Given the description of an element on the screen output the (x, y) to click on. 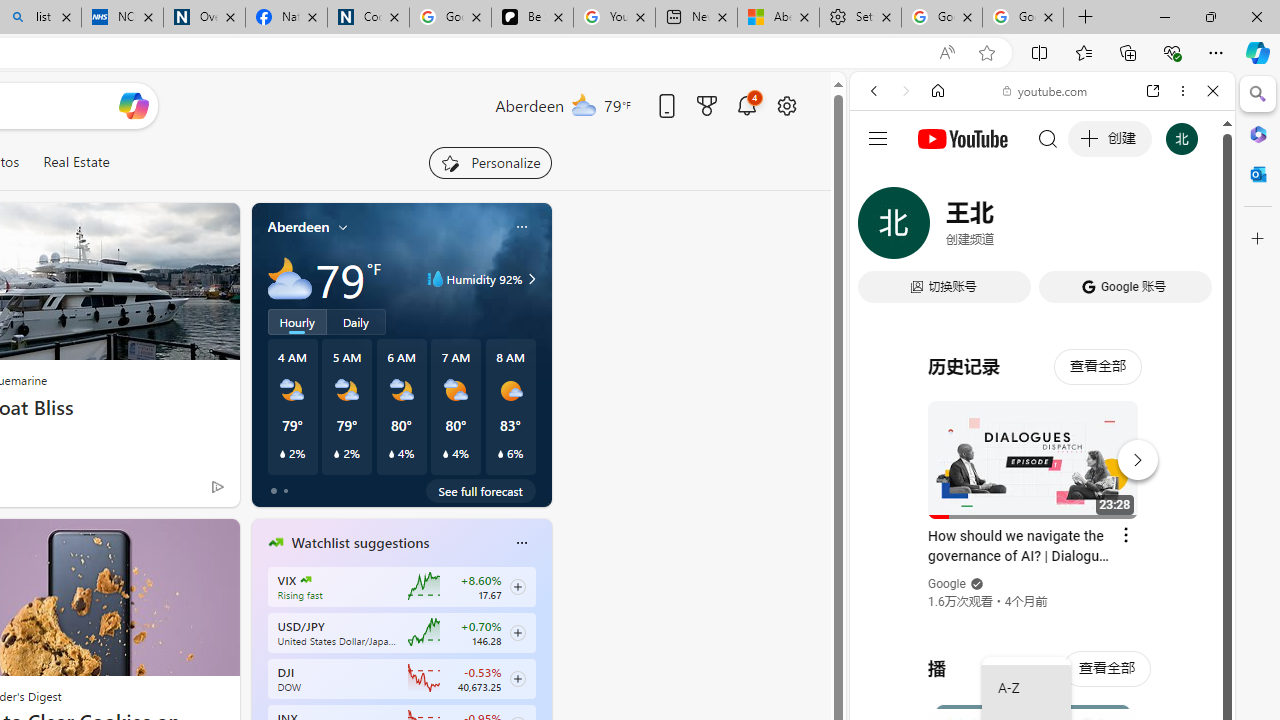
Music (1042, 543)
Mostly cloudy (289, 278)
